Given the description of an element on the screen output the (x, y) to click on. 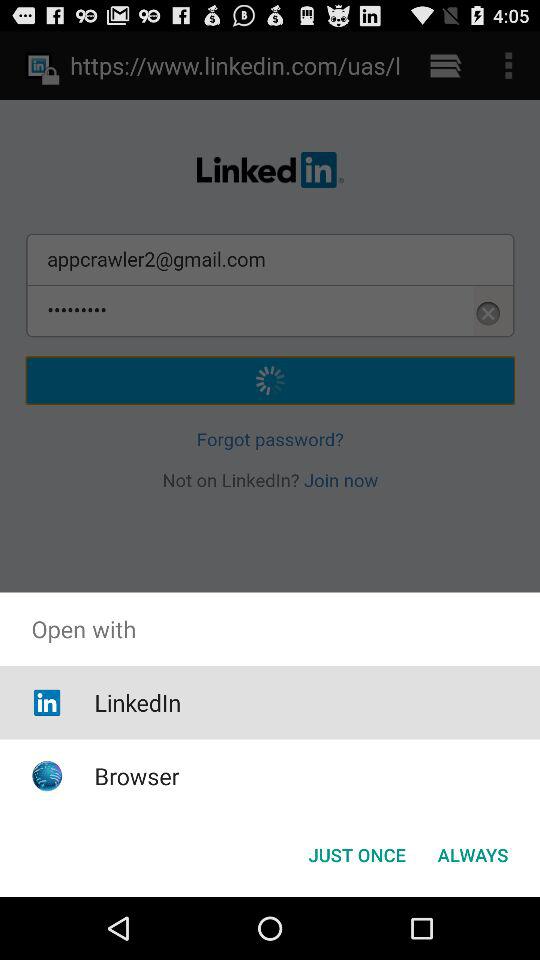
turn off the button to the right of just once button (472, 854)
